Given the description of an element on the screen output the (x, y) to click on. 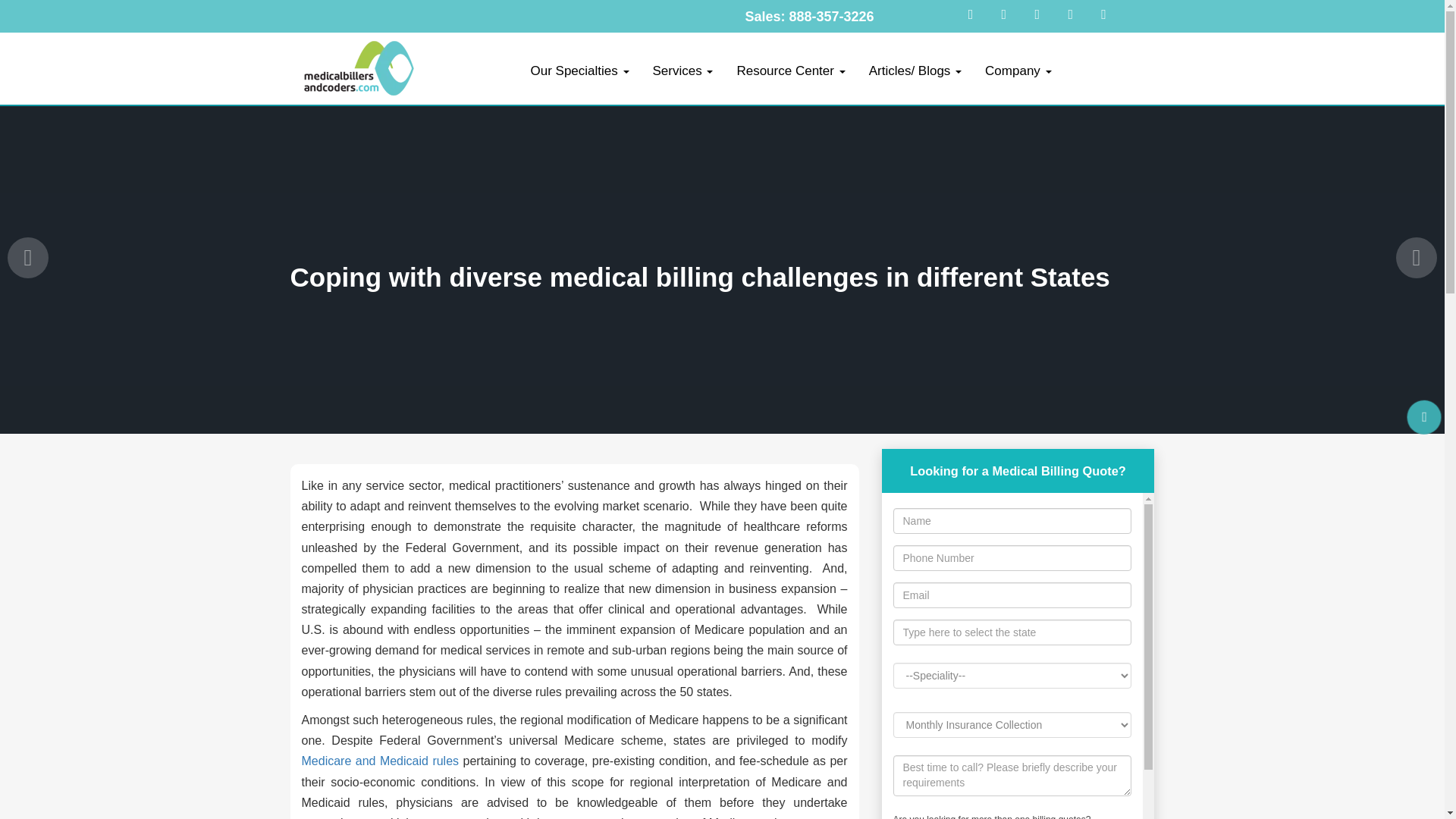
Services (681, 71)
Sales: 888-357-3226 (808, 16)
Our Specialties (579, 71)
